Given the description of an element on the screen output the (x, y) to click on. 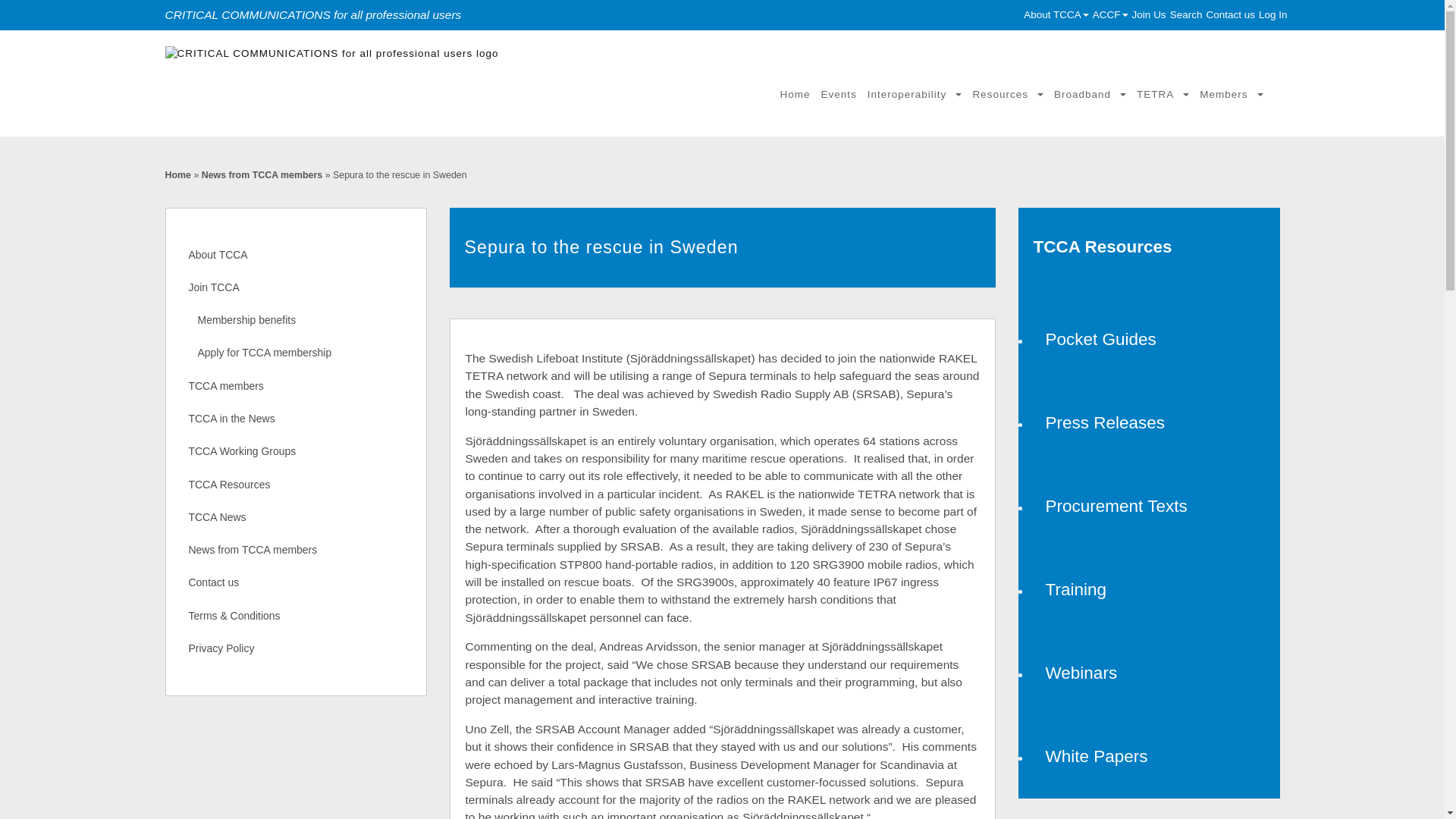
Search (1186, 14)
About TCCA (1056, 14)
Interoperability (914, 94)
Join Us (1149, 14)
Contact us (1230, 14)
CRITICAL COMMUNICATIONS for all professional users (351, 53)
Broadband (1089, 94)
ACCF (1110, 14)
TCCA resources (1148, 246)
Resources (1007, 94)
Log In (1273, 14)
